Given the description of an element on the screen output the (x, y) to click on. 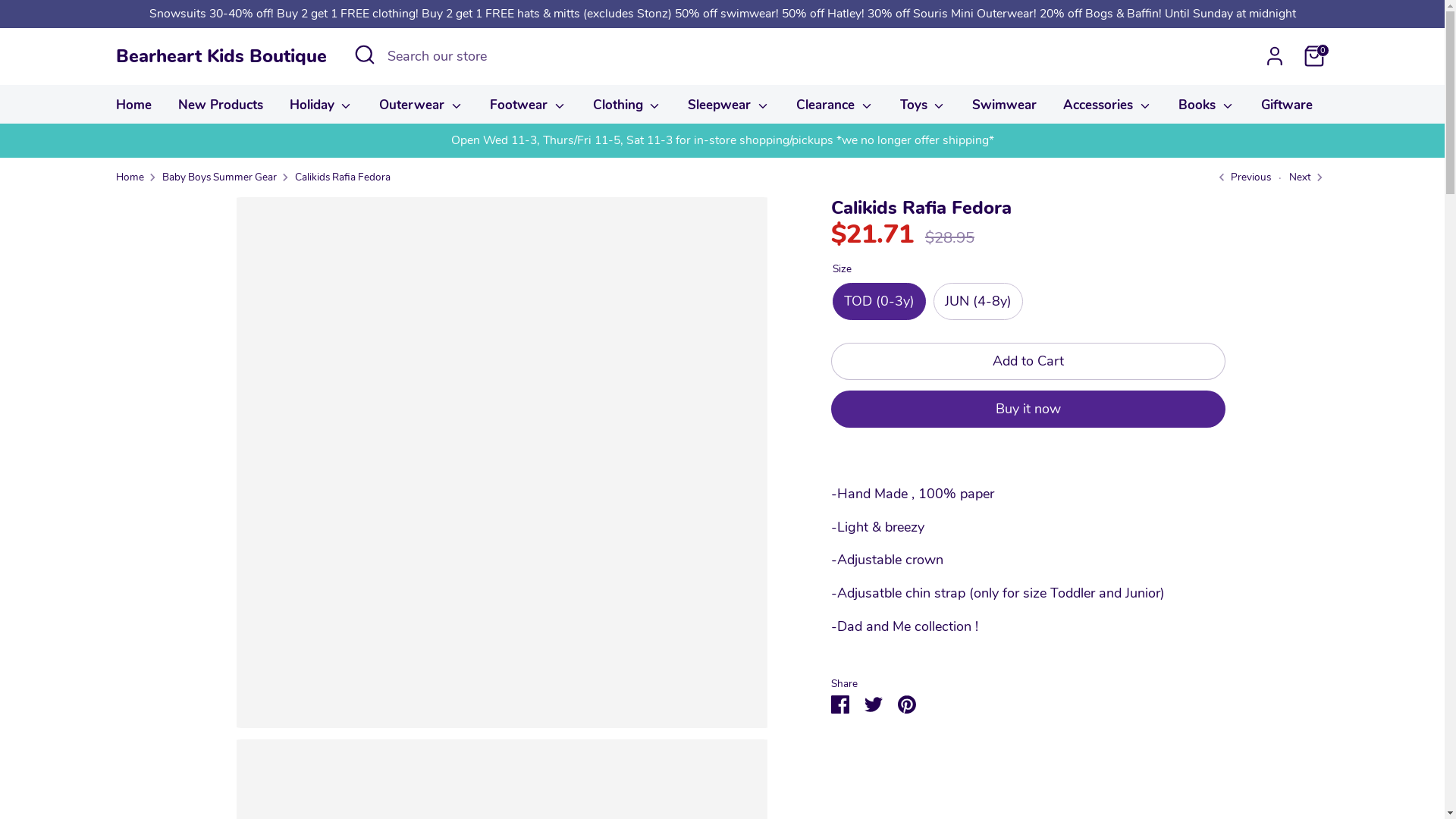
Baby Boys Summer Gear Element type: text (219, 177)
Previous Element type: text (1241, 177)
Home Element type: text (133, 109)
Calikids Rafia Fedora Element type: text (341, 177)
Share on Twitter Element type: text (873, 704)
New Products Element type: text (220, 109)
Accessories Element type: text (1107, 109)
Clothing Element type: text (627, 109)
Books Element type: text (1206, 109)
Holiday Element type: text (320, 109)
Outerwear Element type: text (420, 109)
Next Element type: text (1299, 177)
Footwear Element type: text (527, 109)
E-Gift Cards Element type: text (1375, 109)
Giftware Element type: text (1286, 109)
Toys Element type: text (922, 109)
Pin it Element type: text (906, 704)
0 Element type: text (1313, 55)
Bearheart Kids Boutique Element type: text (220, 56)
Swimwear Element type: text (1004, 109)
Clearance Element type: text (834, 109)
Home Element type: text (129, 177)
Buy it now Element type: text (1027, 408)
Add to Cart Element type: text (1027, 361)
Sleepwear Element type: text (728, 109)
Share on Facebook Element type: text (840, 704)
